Given the description of an element on the screen output the (x, y) to click on. 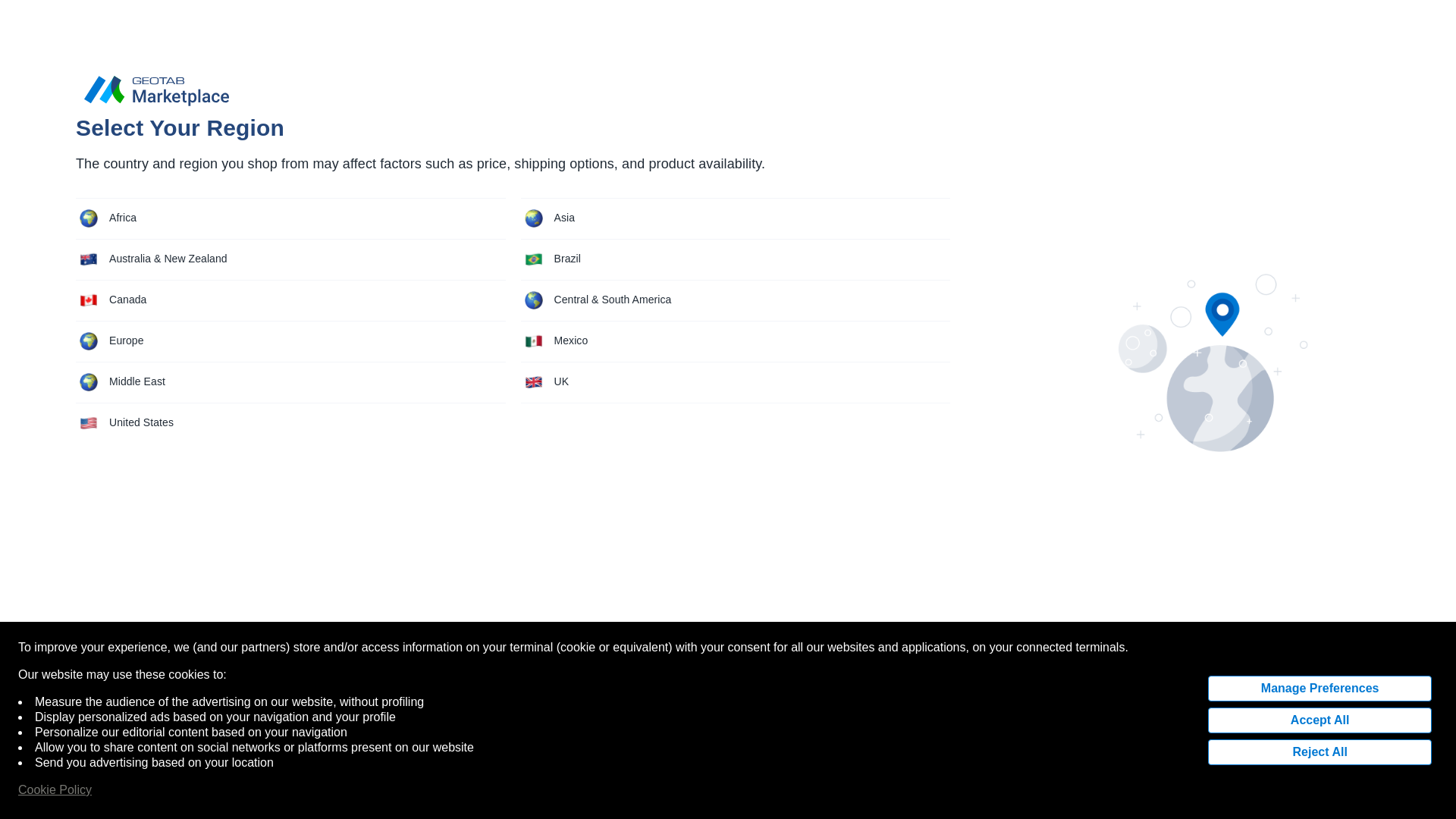
Brazil (734, 155)
Canada (290, 196)
Talk to a Geotab Expert (1341, 693)
Boson TI (259, 28)
Manage Preferences (1319, 585)
Talk to a Geotab Expert (1341, 693)
Reject All (1319, 648)
Marketplace (182, 28)
Cookie Policy (54, 686)
